Given the description of an element on the screen output the (x, y) to click on. 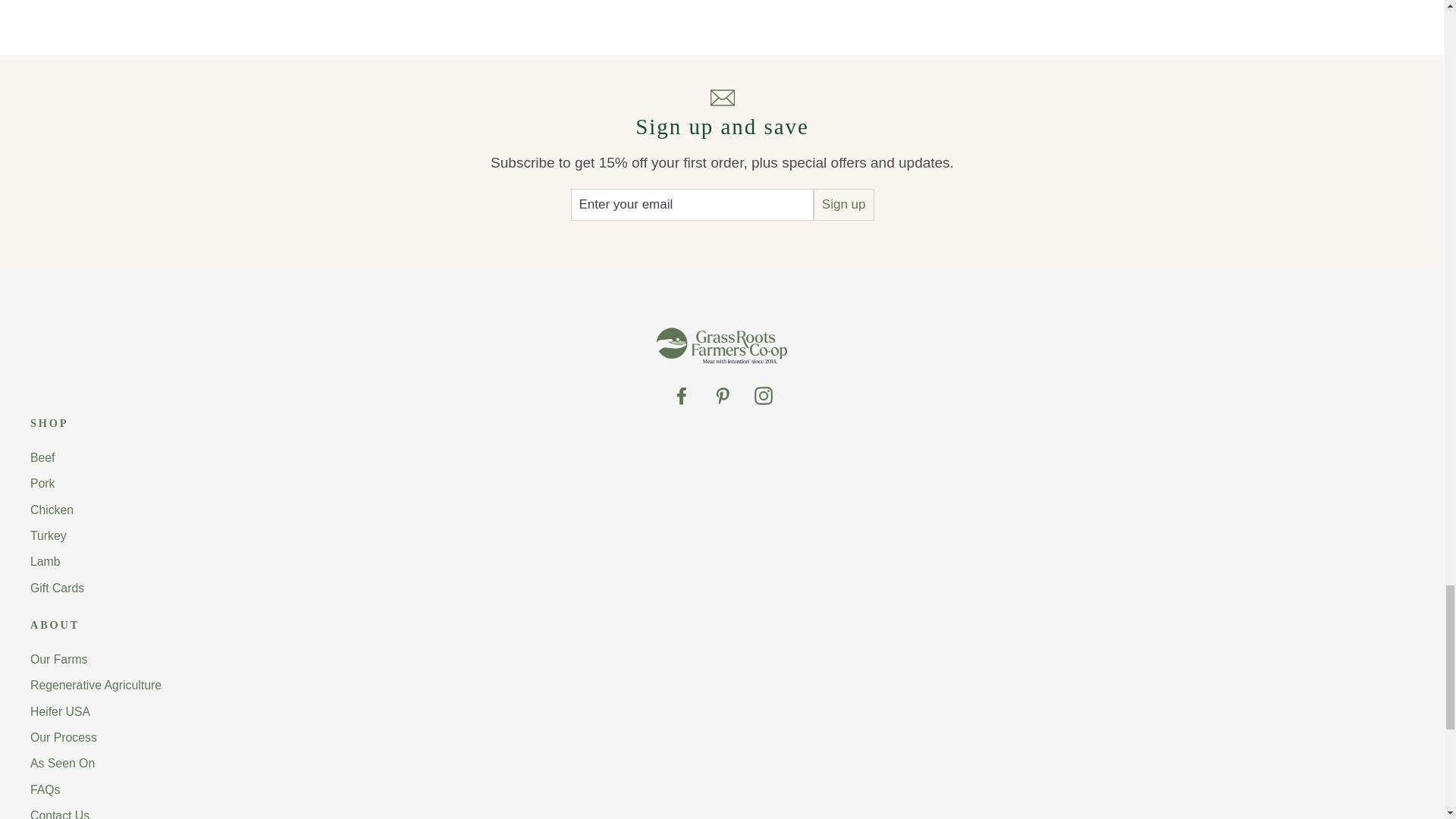
Grass Roots Farmers' Cooperative on Instagram (762, 394)
Grass Roots Farmers' Cooperative on Pinterest (721, 394)
Sign up (844, 204)
Grass Roots Farmers' Cooperative on Facebook (680, 394)
